Given the description of an element on the screen output the (x, y) to click on. 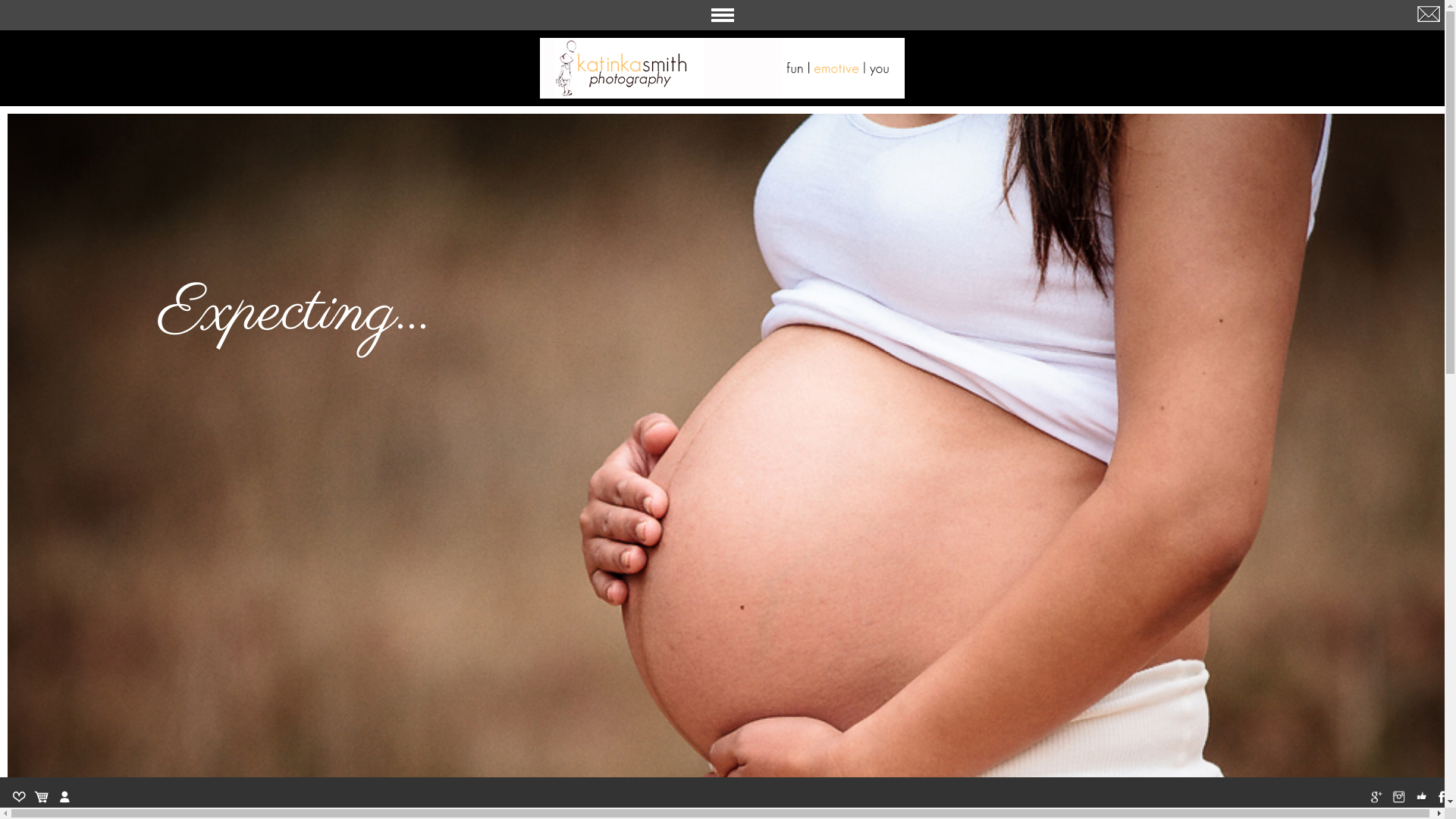
enter password Element type: text (71, 33)
SUBMIT Element type: text (154, 33)
